Given the description of an element on the screen output the (x, y) to click on. 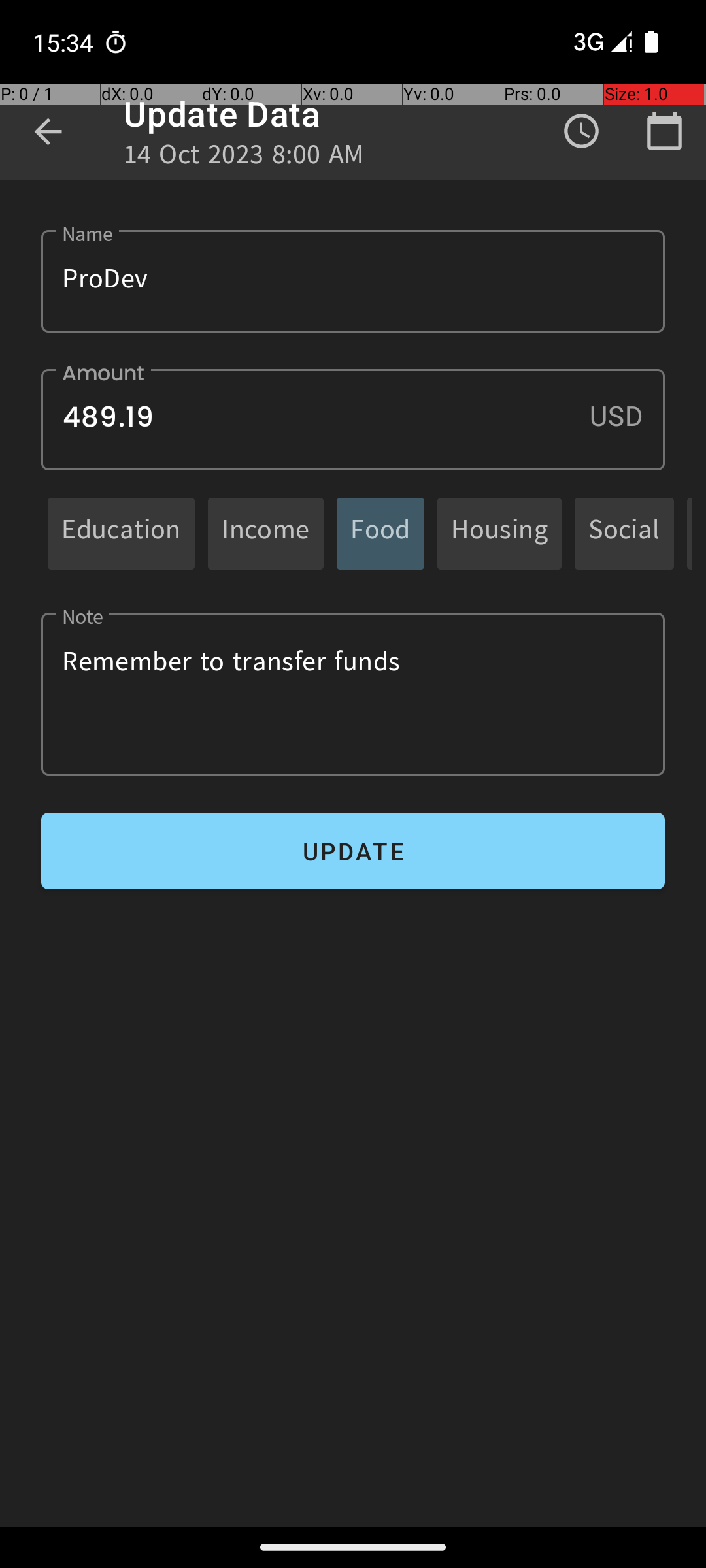
14 Oct 2023 8:00 AM Element type: android.widget.TextView (243, 157)
ProDev Element type: android.widget.EditText (352, 280)
489.19 Element type: android.widget.EditText (352, 419)
Education Element type: android.widget.TextView (121, 533)
